Given the description of an element on the screen output the (x, y) to click on. 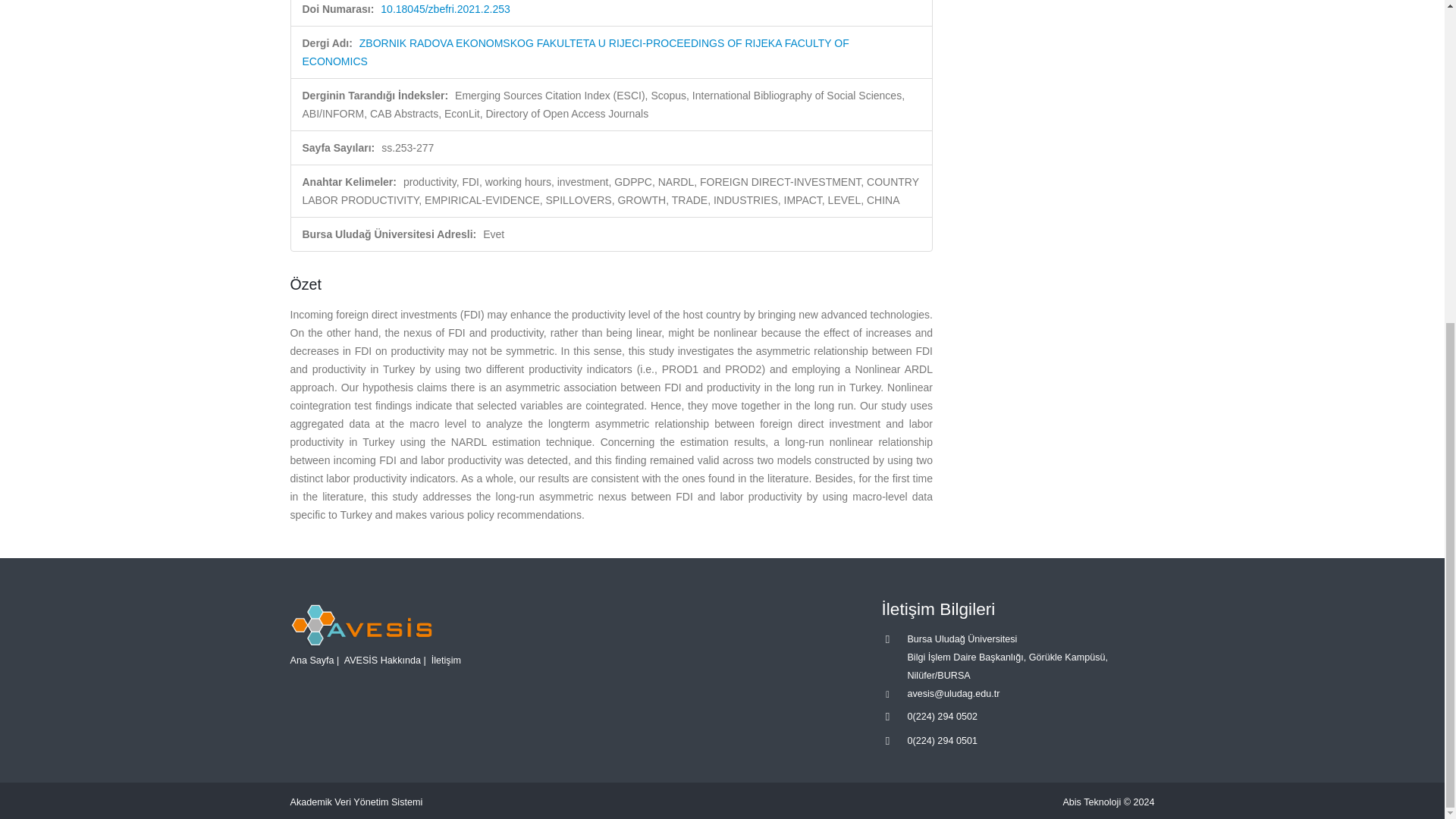
Abis Teknoloji (1091, 801)
Ana Sayfa (311, 660)
